Given the description of an element on the screen output the (x, y) to click on. 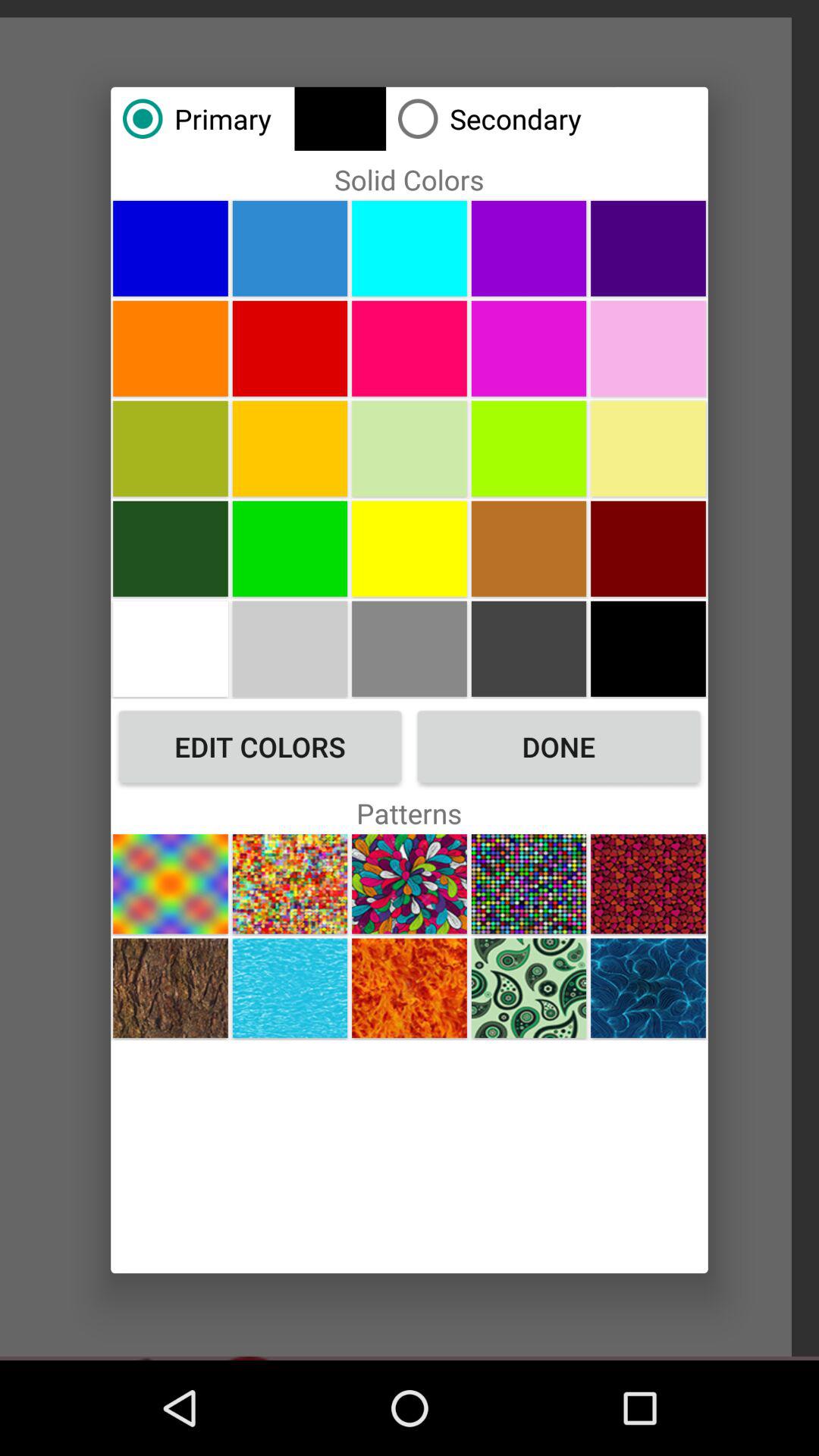
selects pattern (289, 987)
